Given the description of an element on the screen output the (x, y) to click on. 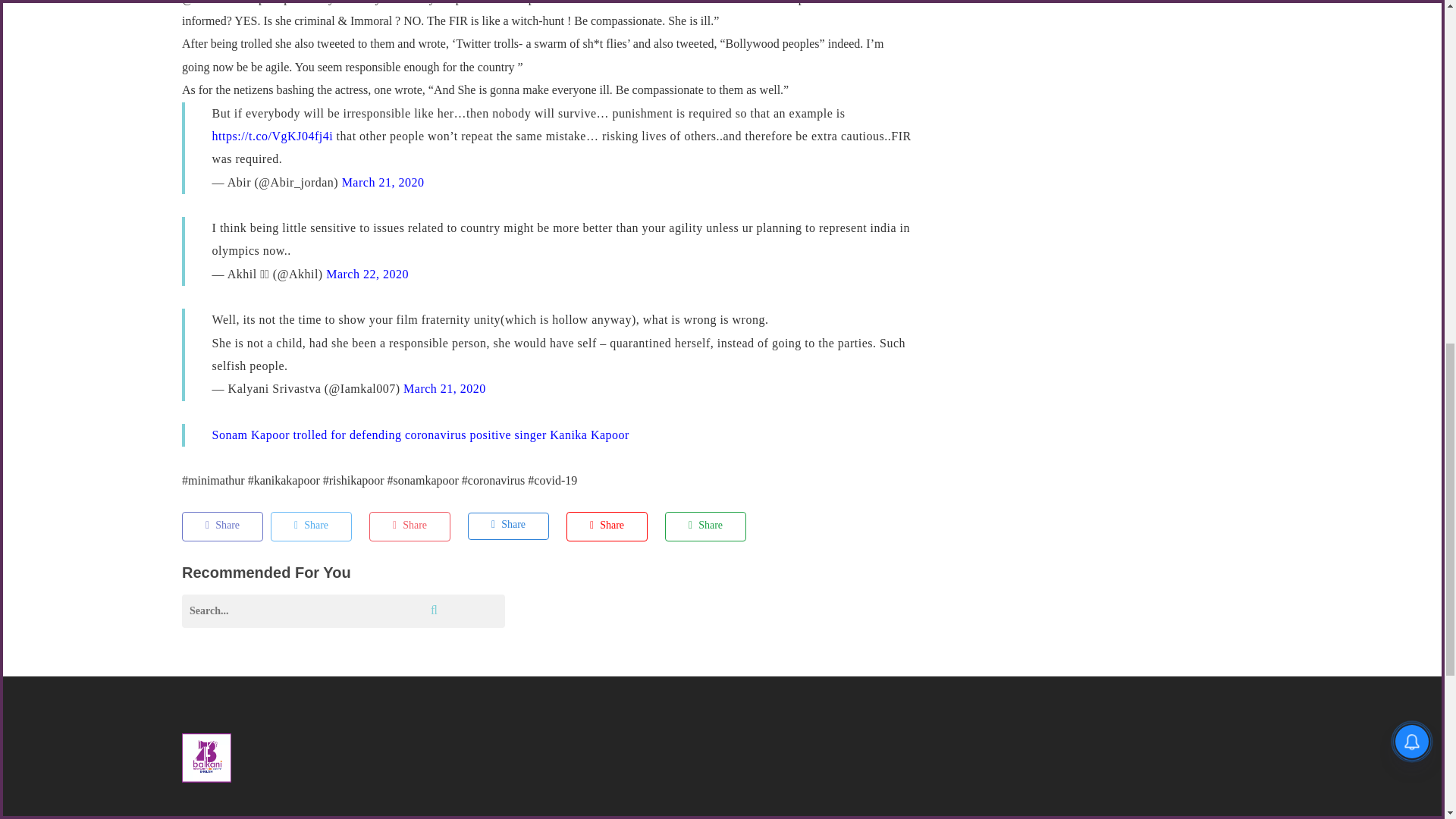
March 21, 2020 (383, 182)
March 22, 2020 (367, 273)
Search for: (343, 611)
March 21, 2020 (444, 388)
